Given the description of an element on the screen output the (x, y) to click on. 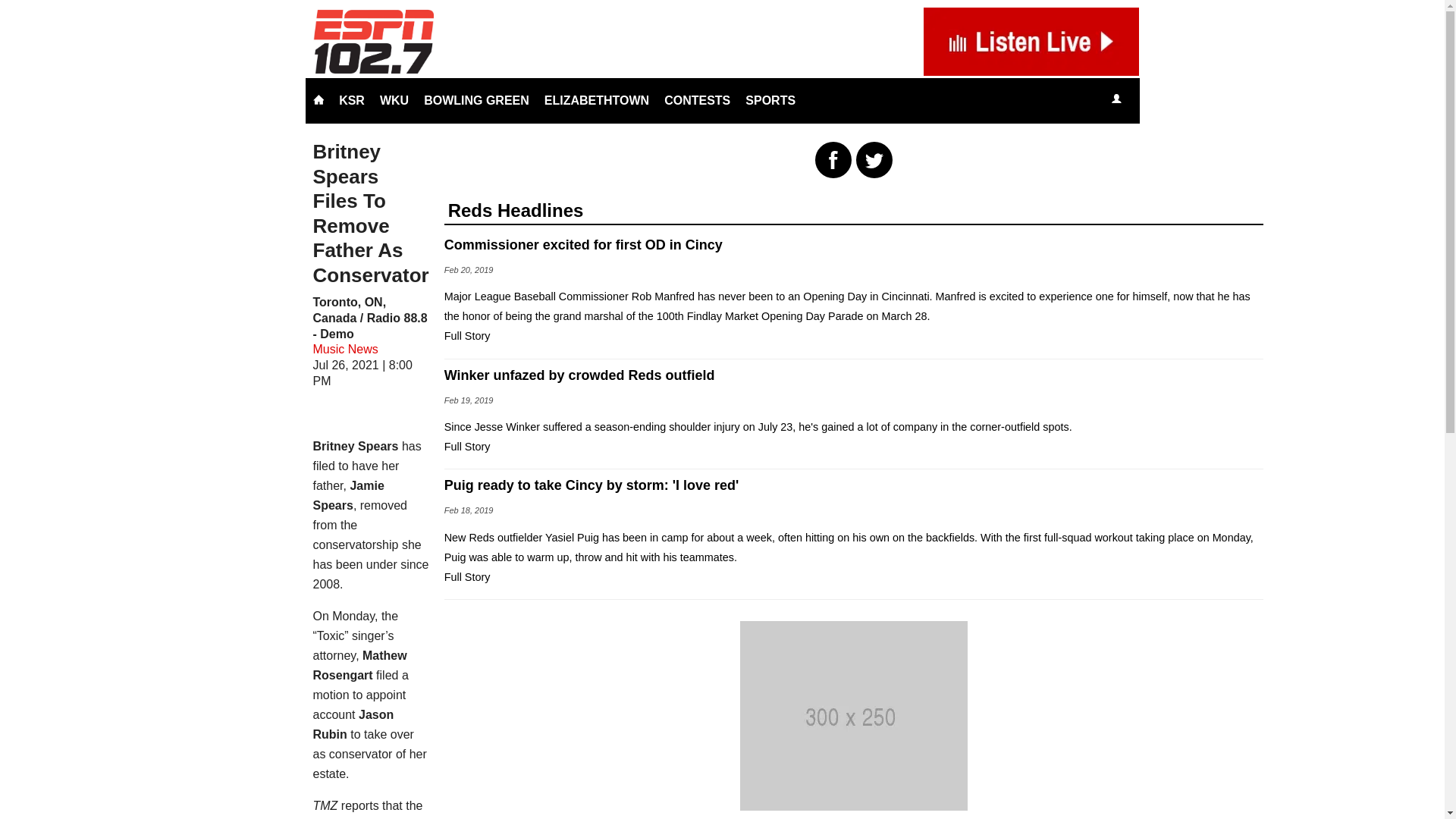
Full Story (467, 336)
Full Story (467, 576)
WKU (394, 100)
Puig ready to take Cincy by storm: 'I love red' (853, 484)
CONTESTS (697, 100)
Listen Live (1161, 100)
BOWLING GREEN (476, 100)
SPORTS (770, 100)
Commissioner excited for first OD in Cincy (853, 244)
ELIZABETHTOWN (596, 100)
Winker unfazed by crowded Reds outfield (853, 375)
HOME (318, 99)
Sign In (1116, 99)
Music News (345, 349)
Sign In (1115, 100)
